Given the description of an element on the screen output the (x, y) to click on. 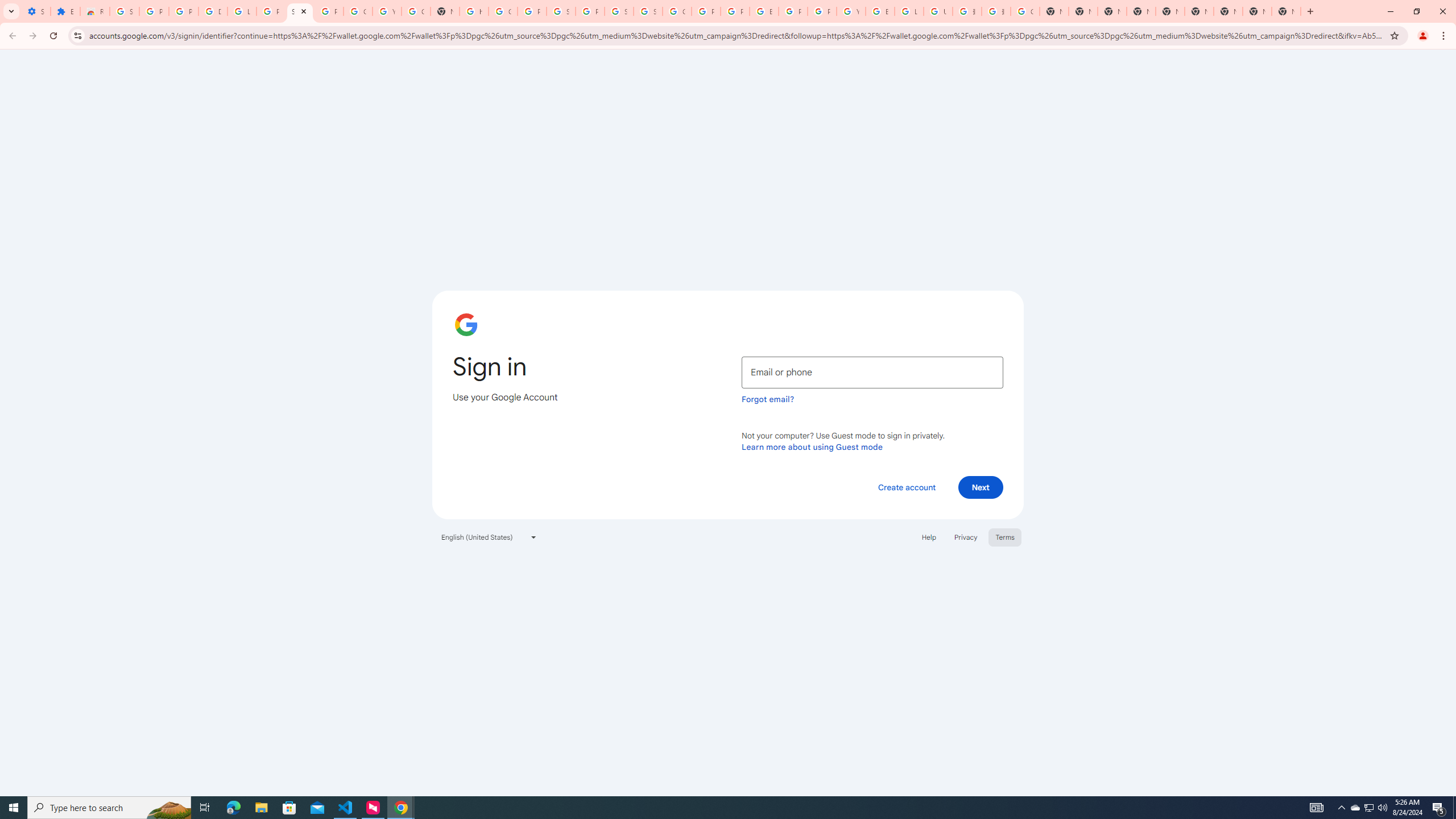
Next (980, 486)
New Tab (1227, 11)
Sign in - Google Accounts (648, 11)
Settings - On startup (35, 11)
Terms (1005, 536)
Privacy Help Center - Policies Help (705, 11)
Reviews: Helix Fruit Jump Arcade Game (95, 11)
Create account (905, 486)
Extensions (65, 11)
